Given the description of an element on the screen output the (x, y) to click on. 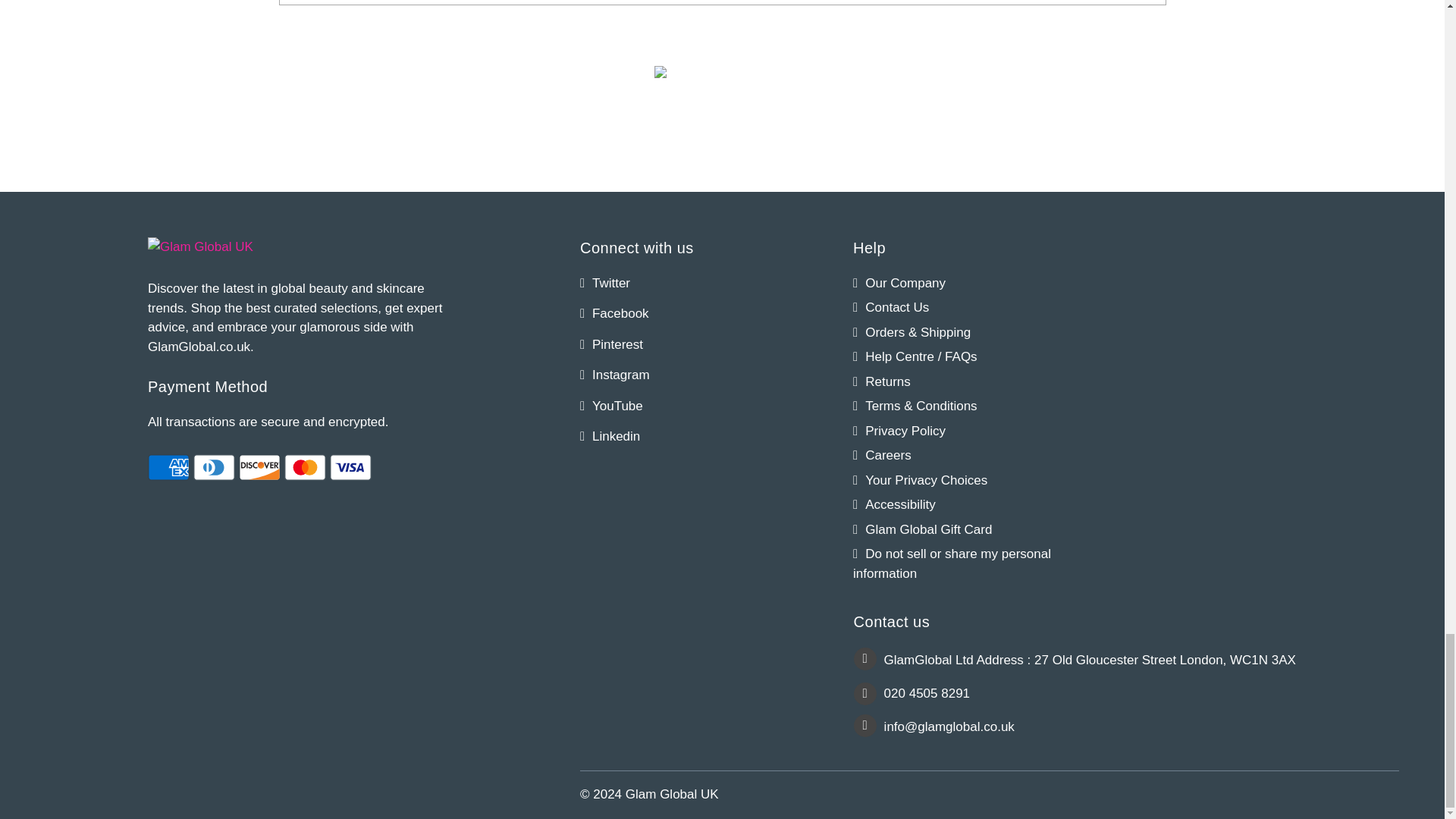
Discover (259, 467)
Diners Club (213, 467)
Mastercard (304, 467)
American Express (168, 467)
Visa (350, 467)
